Given the description of an element on the screen output the (x, y) to click on. 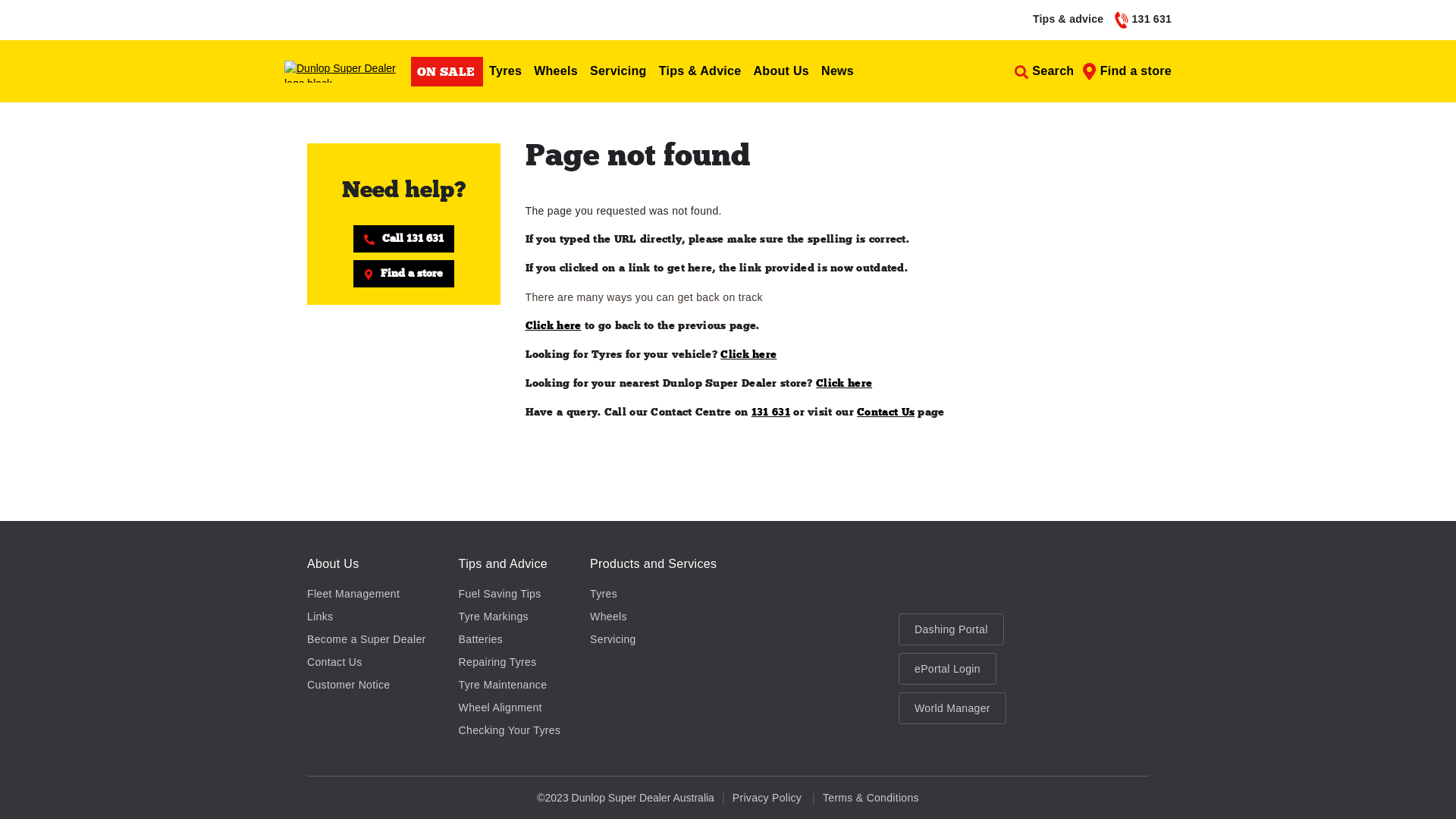
131 631 Element type: text (1142, 19)
Terms & Conditions Element type: text (870, 797)
Tips & advice Element type: text (1067, 18)
Dunlop Super Dealer logo black Element type: hover (347, 71)
Tips & Advice Element type: text (699, 71)
ePortal Login Element type: text (947, 668)
About Us Element type: text (781, 71)
World Manager Element type: text (952, 708)
Servicing Element type: text (612, 639)
Tyres Element type: text (505, 71)
Fuel Saving Tips Element type: text (499, 593)
Find a store Element type: text (1126, 71)
Become a Super Dealer Element type: text (366, 639)
Contact Us Element type: text (334, 661)
Customer Notice Element type: text (348, 684)
Click here Element type: text (552, 325)
Find a store Element type: text (403, 273)
Servicing Element type: text (617, 71)
Wheels Element type: text (608, 616)
Click here Element type: text (843, 382)
Tyre Maintenance Element type: text (502, 684)
ON SALE Element type: text (447, 70)
Call 131 631 Element type: text (403, 238)
131 631 Element type: text (770, 411)
Repairing Tyres Element type: text (497, 661)
Batteries Element type: text (480, 639)
Contact Us Element type: text (885, 411)
Dashing Portal Element type: text (951, 629)
Wheel Alignment Element type: text (500, 707)
Tyres Element type: text (603, 593)
Fleet Management Element type: text (353, 593)
Links Element type: text (319, 616)
Privacy Policy Element type: text (766, 797)
Wheels Element type: text (555, 71)
Tyre Markings Element type: text (493, 616)
Checking Your Tyres Element type: text (509, 730)
News Element type: text (837, 71)
Click here Element type: text (748, 354)
